Given the description of an element on the screen output the (x, y) to click on. 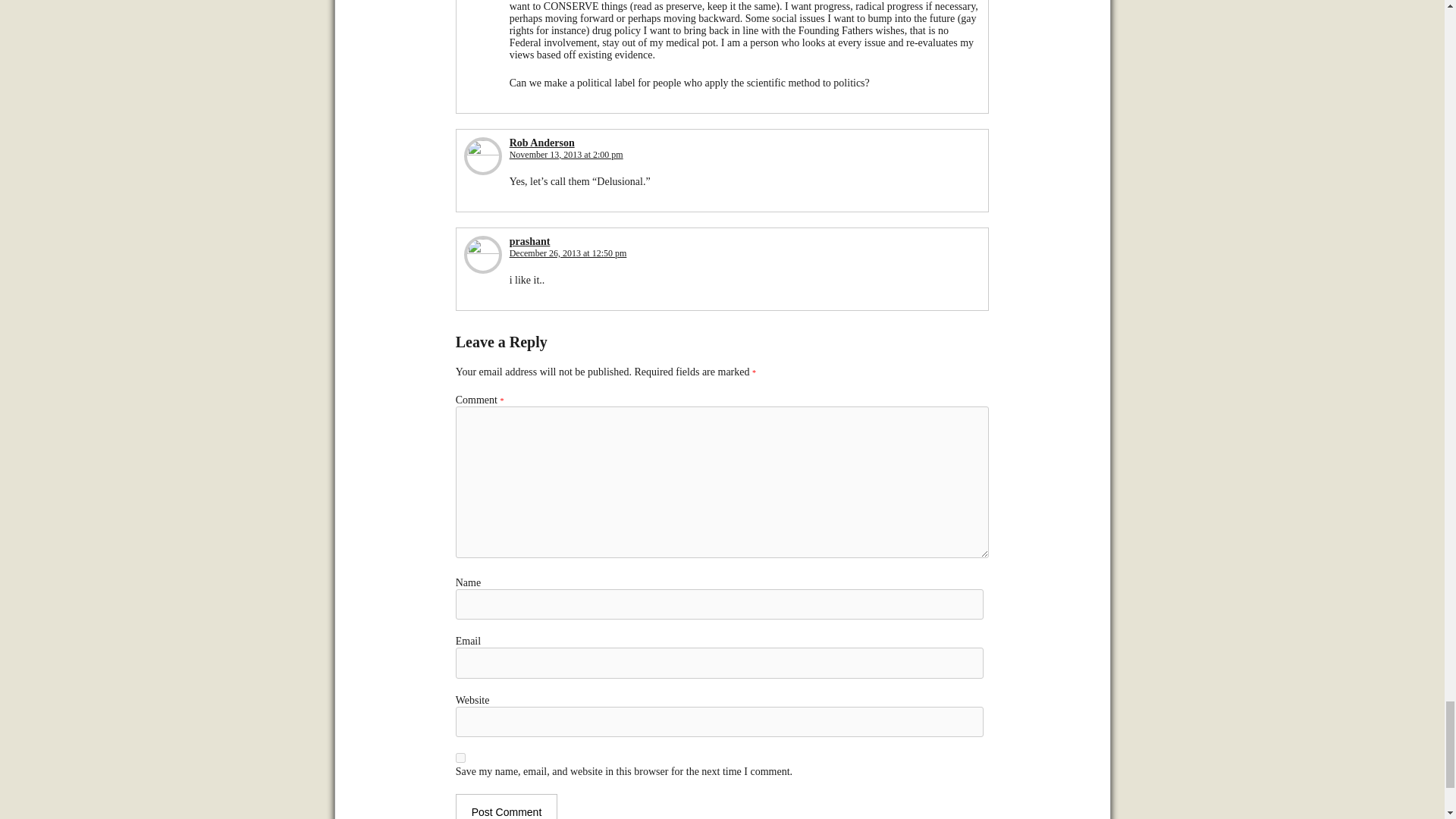
yes (460, 757)
Post Comment (506, 806)
